Given the description of an element on the screen output the (x, y) to click on. 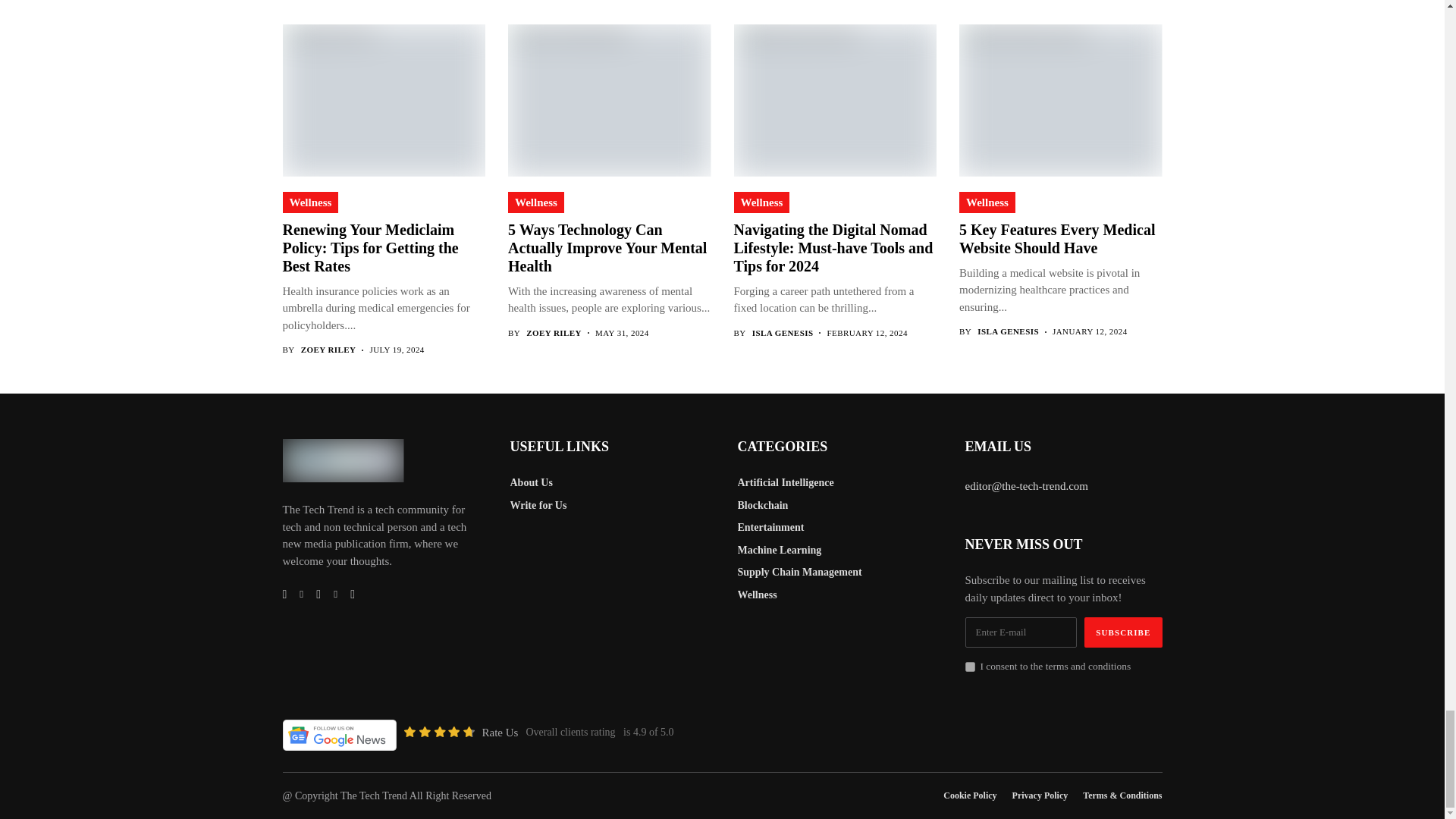
Posts by Zoey Riley (328, 349)
1 (968, 666)
Posts by Zoey Riley (552, 333)
Posts by Isla Genesis (782, 333)
Posts by Isla Genesis (1007, 331)
Subscribe (1122, 632)
